Given the description of an element on the screen output the (x, y) to click on. 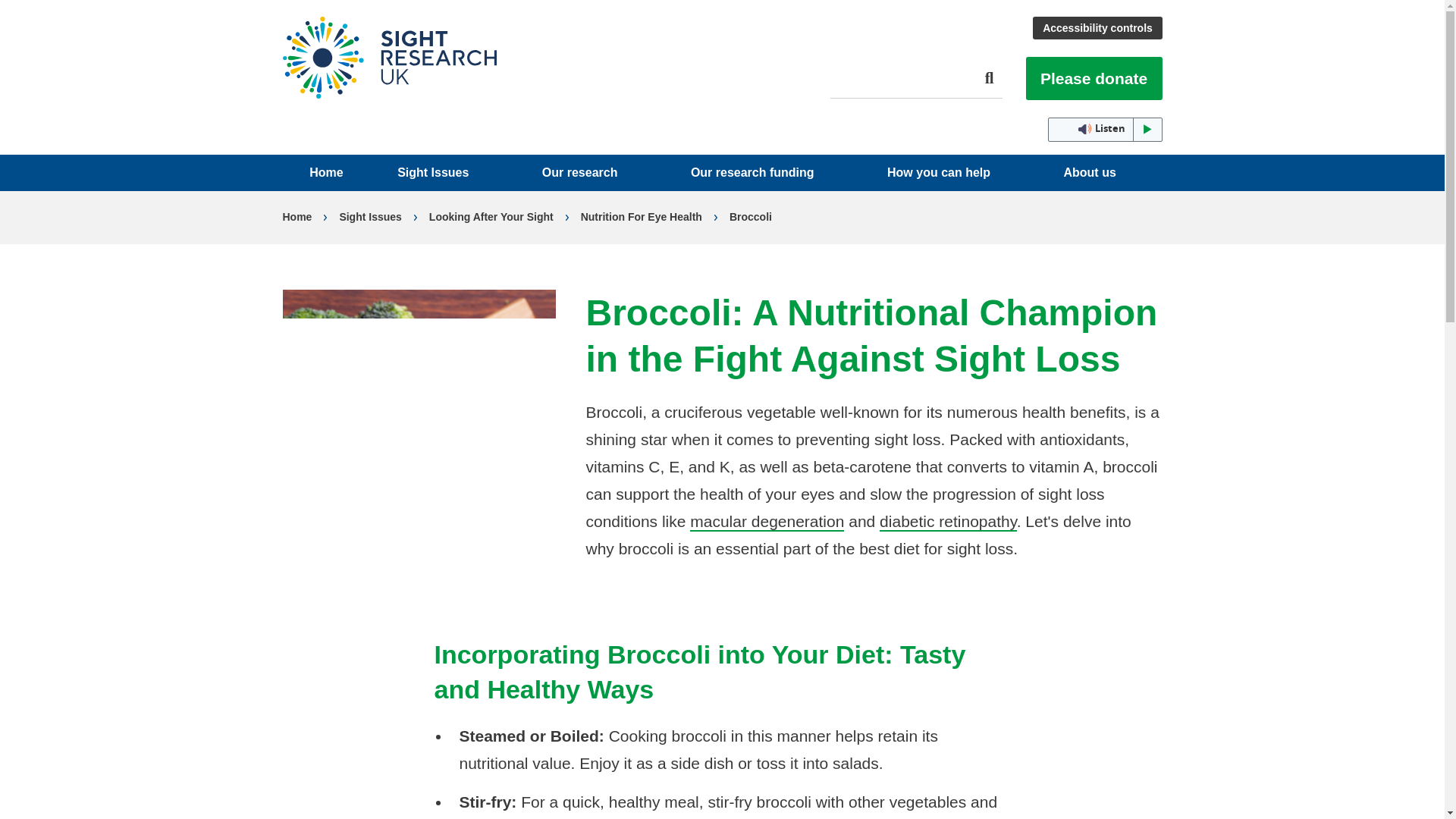
Please donate (1093, 77)
Home (296, 217)
Home (325, 172)
Home (389, 57)
Listen (1104, 129)
Our research (589, 172)
Please donate (1093, 77)
Looking After Your Sight (491, 217)
Sight Issues (442, 172)
Nutrition For Eye Health (640, 217)
Our research funding (761, 172)
Sight Issues (370, 217)
Listen to this page using ReadSpeaker webReader (1104, 129)
